Given the description of an element on the screen output the (x, y) to click on. 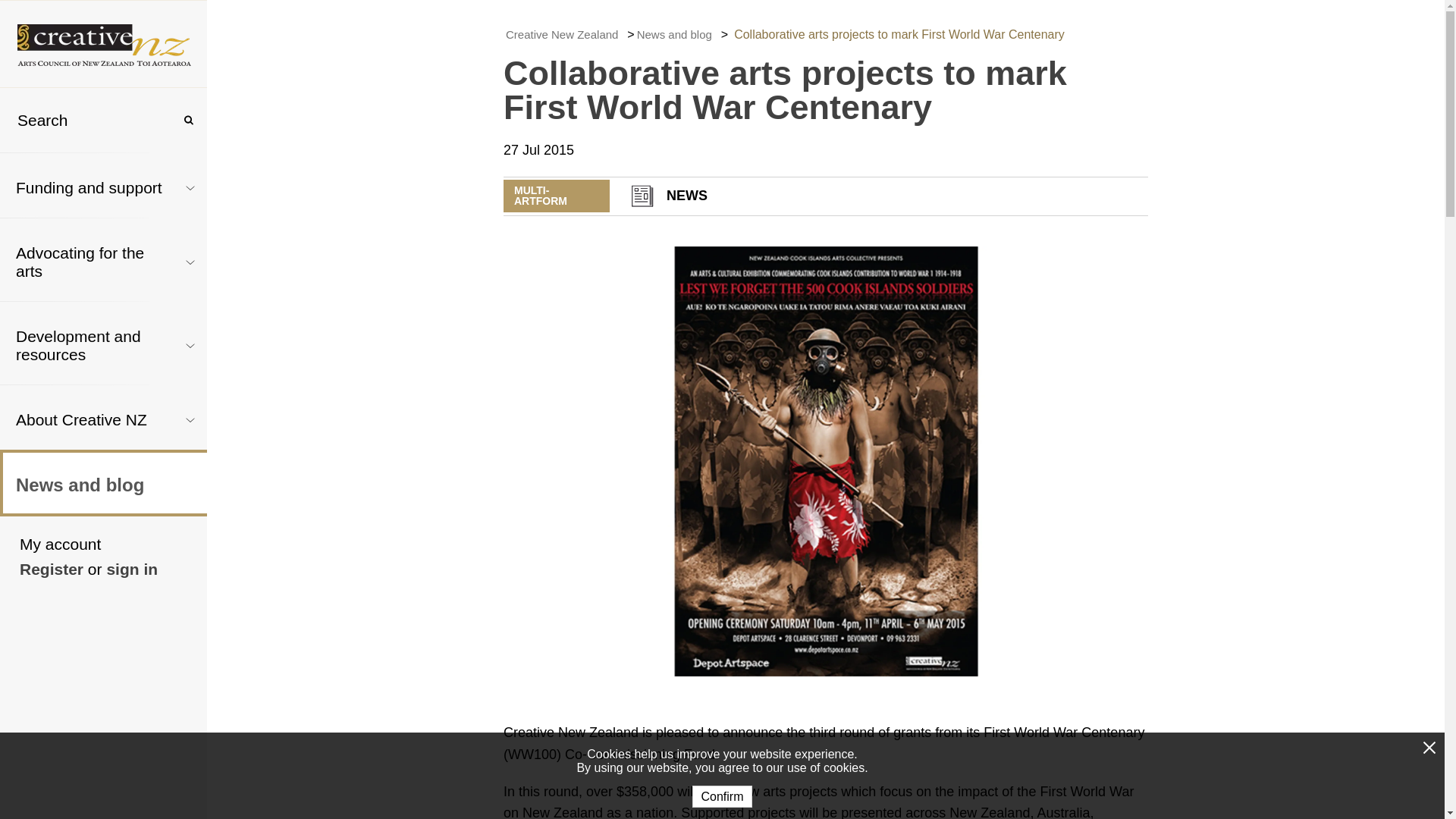
Artform: Multi-Artform (556, 195)
Funding and support (87, 184)
